Given the description of an element on the screen output the (x, y) to click on. 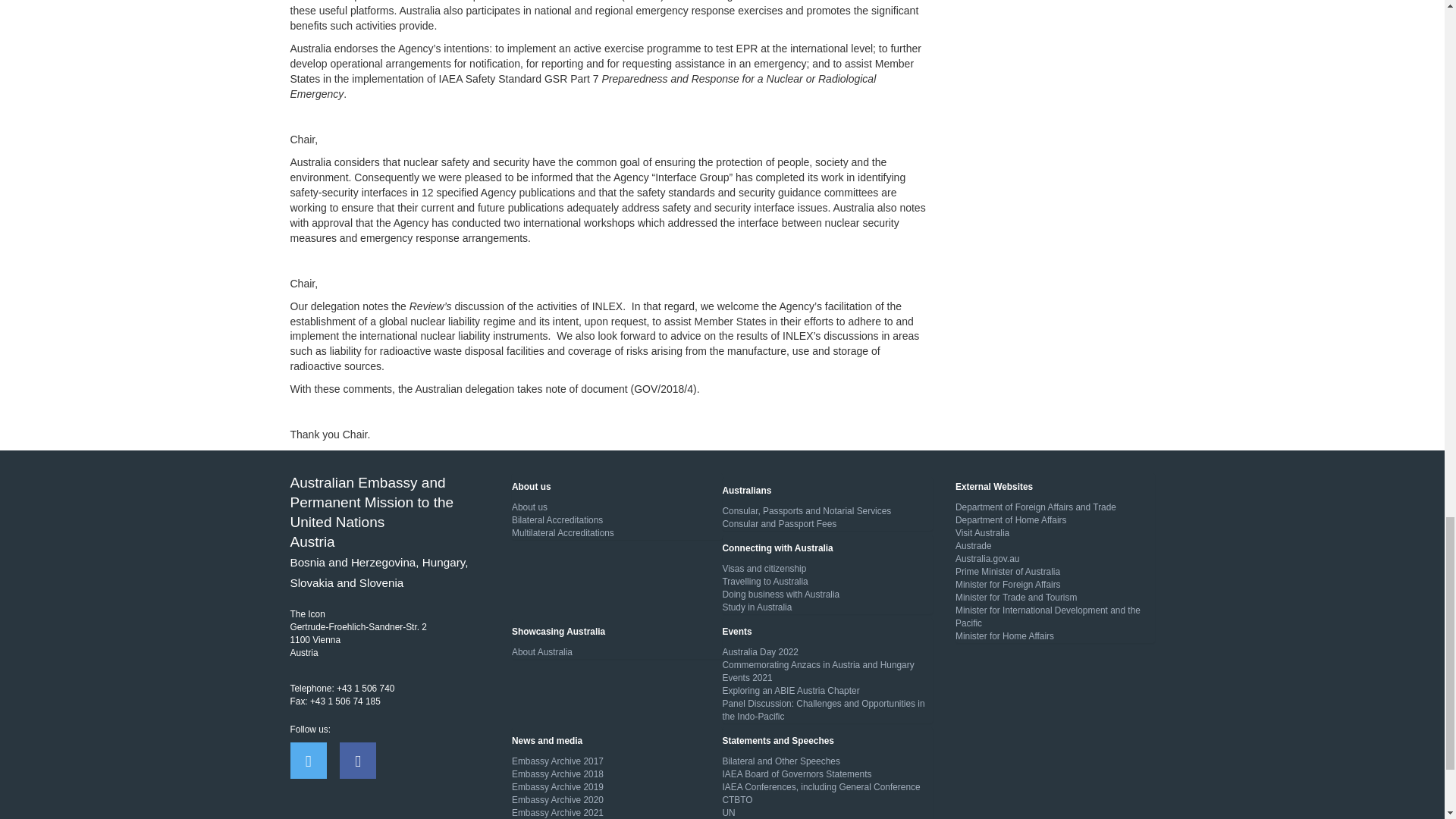
Twitter (307, 760)
Facebook (357, 760)
